Given the description of an element on the screen output the (x, y) to click on. 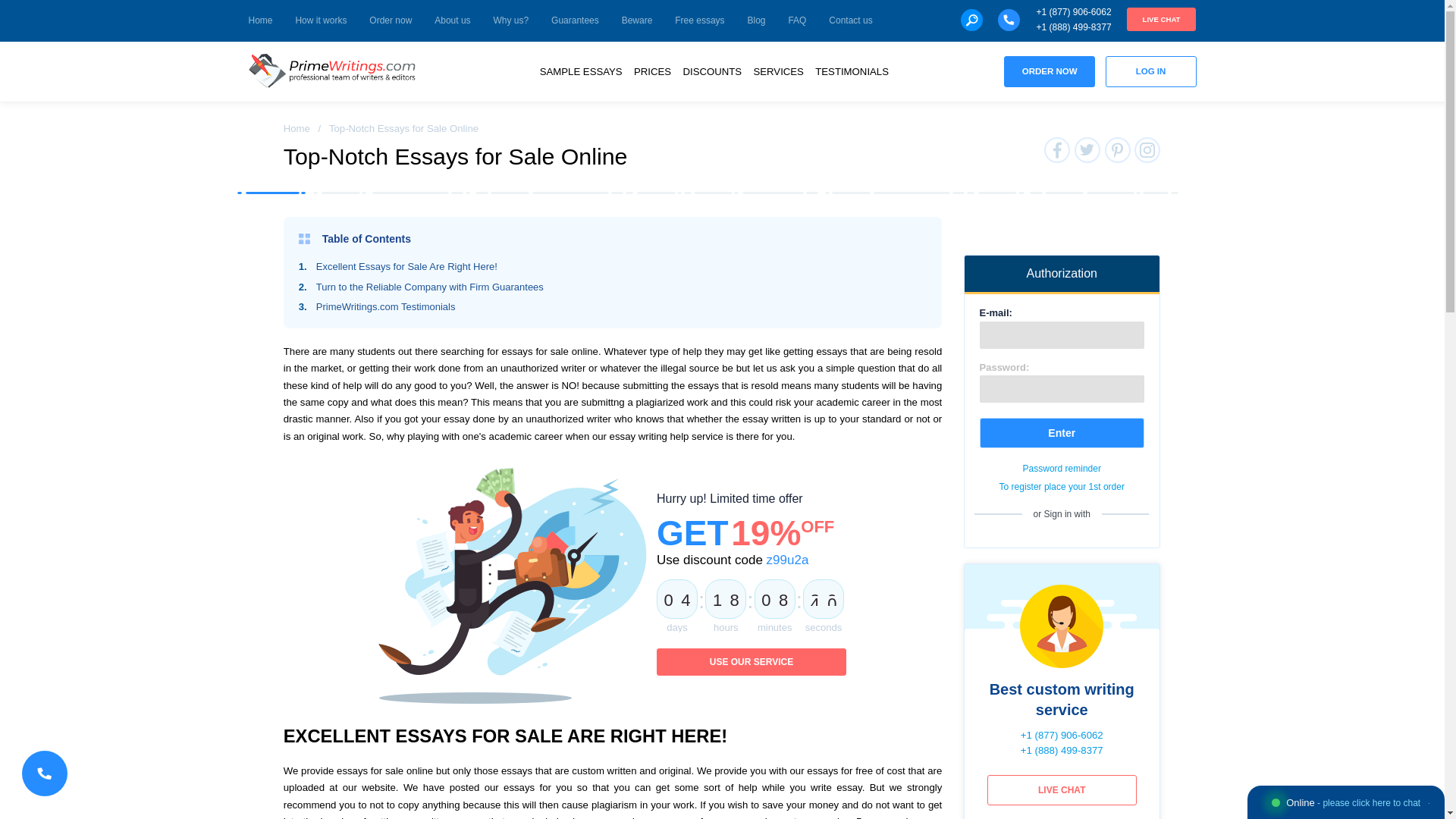
LOG IN (1150, 71)
Enter (1061, 432)
SERVICES (777, 71)
DISCOUNTS (711, 71)
SAMPLE ESSAYS (581, 71)
Free essays (699, 20)
PRICES (652, 71)
Home (296, 128)
TESTIMONIALS (851, 71)
Guarantees (574, 20)
Contact us (850, 20)
Enter (1061, 432)
How it works (320, 20)
primewritings.com (335, 70)
